Given the description of an element on the screen output the (x, y) to click on. 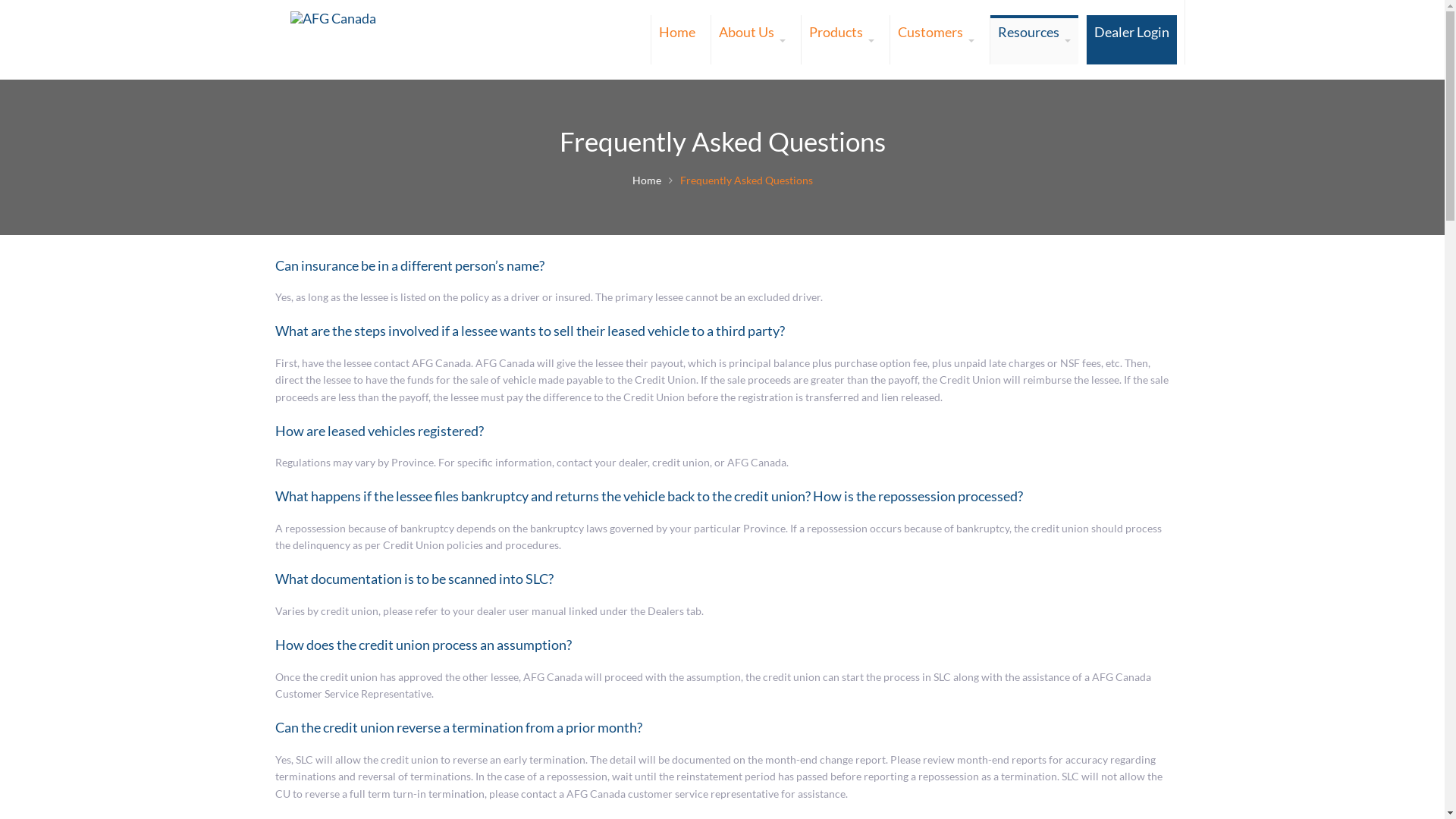
Resources Element type: text (1034, 39)
Home Element type: text (646, 179)
About Us Element type: text (752, 39)
Customers Element type: text (936, 39)
Home Element type: text (676, 39)
Products Element type: text (840, 39)
Dealer Login Element type: text (1130, 39)
